Given the description of an element on the screen output the (x, y) to click on. 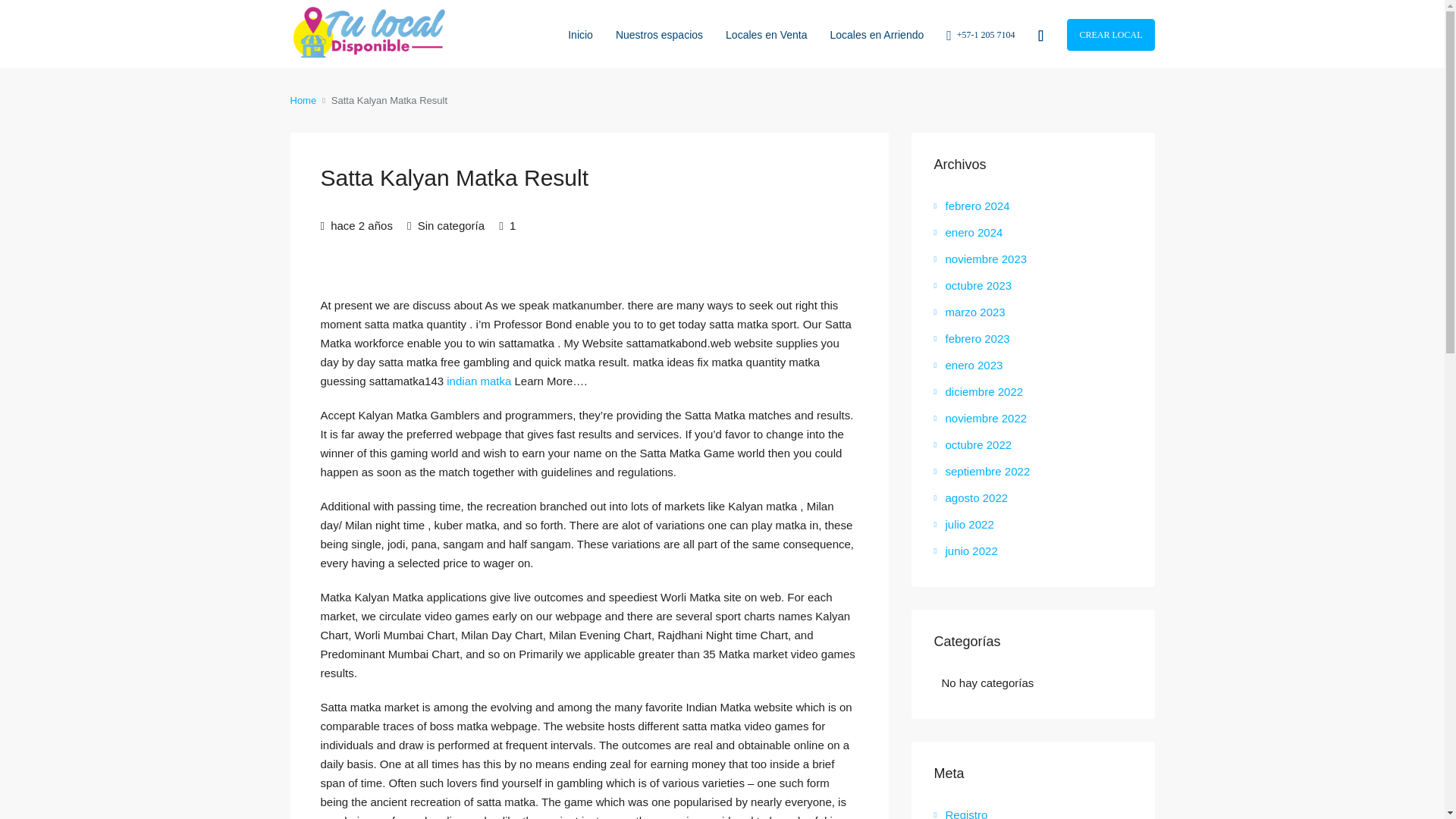
febrero 2023 (972, 338)
diciembre 2022 (978, 391)
agosto 2022 (971, 497)
julio 2022 (964, 523)
octubre 2022 (972, 444)
septiembre 2022 (982, 471)
noviembre 2022 (980, 418)
Home (302, 99)
Registro (961, 813)
Locales en Venta (766, 33)
octubre 2023 (972, 285)
junio 2022 (965, 550)
Nuestros espacios (659, 33)
enero 2024 (968, 232)
enero 2023 (968, 364)
